Given the description of an element on the screen output the (x, y) to click on. 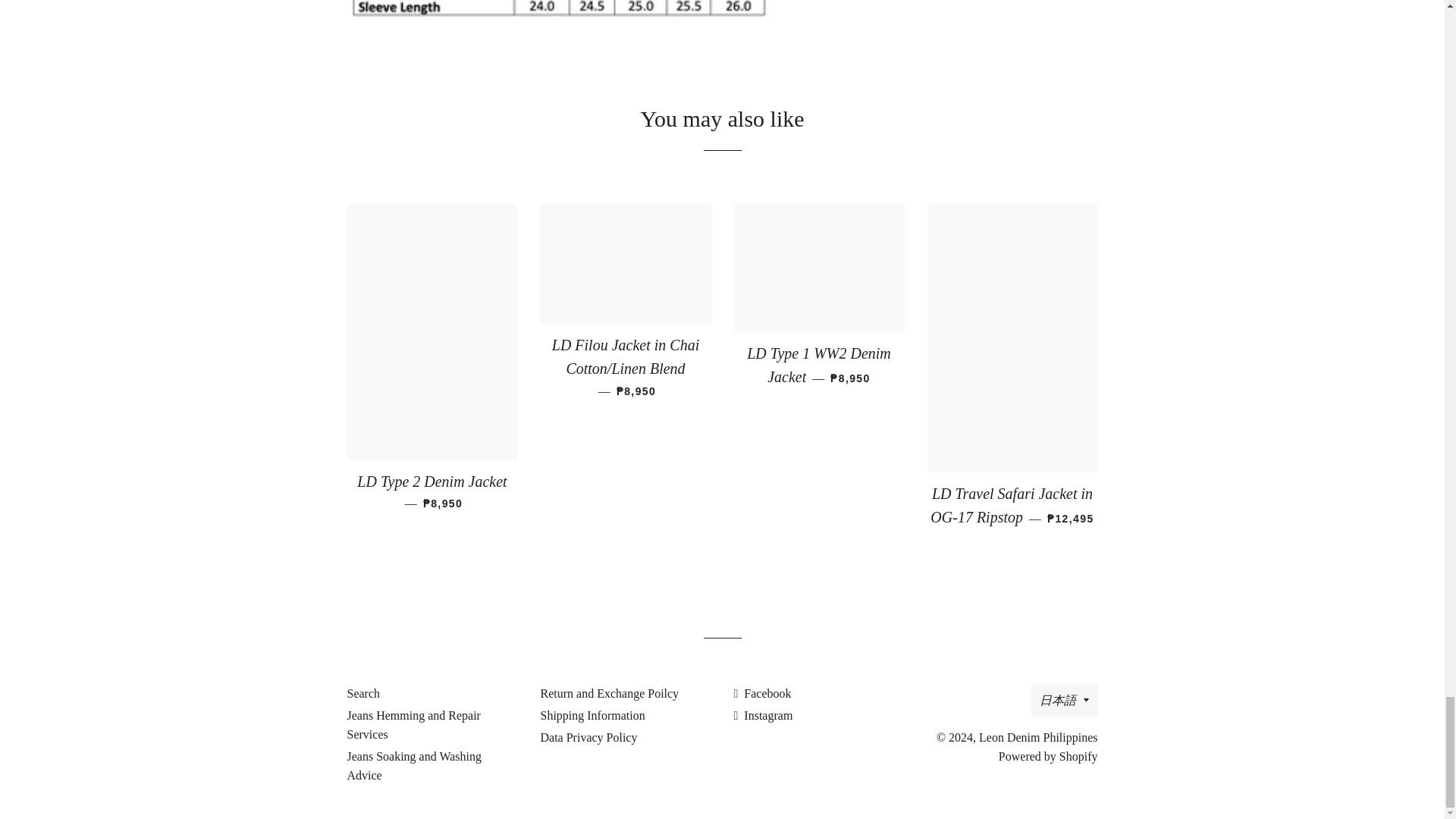
Leon Denim Philippines on Instagram (763, 715)
Leon Denim Philippines on Facebook (762, 693)
